Given the description of an element on the screen output the (x, y) to click on. 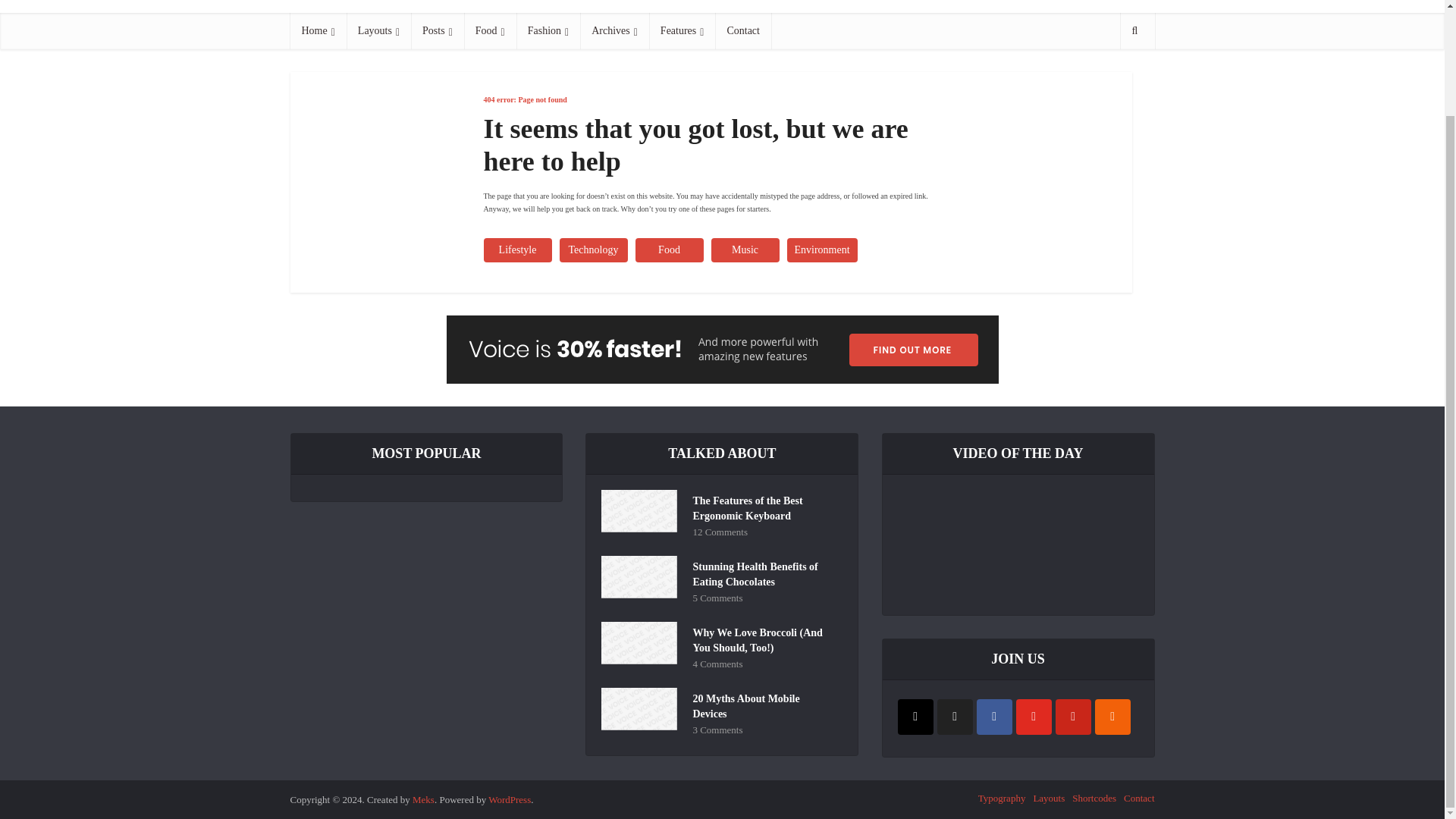
Layouts (378, 31)
Facebook (993, 716)
Stunning Health Benefits of Eating Chocolates (764, 572)
20 Myths About Mobile Devices (764, 704)
Pinterest (1072, 716)
RSS (1112, 716)
YouTube (1033, 716)
Posts (437, 31)
Home (317, 31)
Instagram (915, 716)
The Features of the Best Ergonomic Keyboard (764, 506)
